Given the description of an element on the screen output the (x, y) to click on. 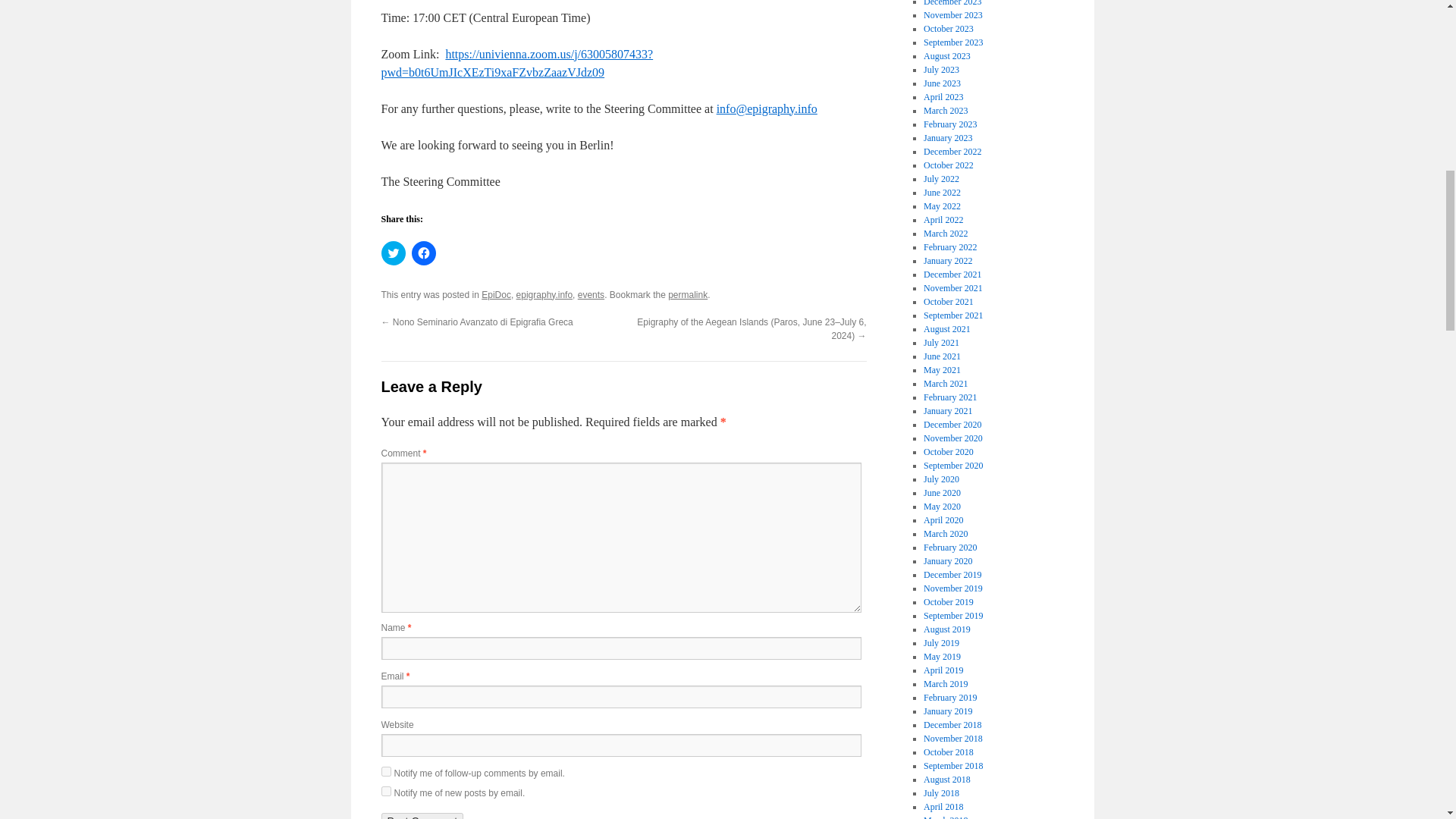
Post Comment (421, 816)
Post Comment (421, 816)
Click to share on Facebook (422, 252)
EpiDoc (496, 294)
subscribe (385, 771)
epigraphy.info (544, 294)
subscribe (385, 791)
permalink (687, 294)
Click to share on Twitter (392, 252)
